Given the description of an element on the screen output the (x, y) to click on. 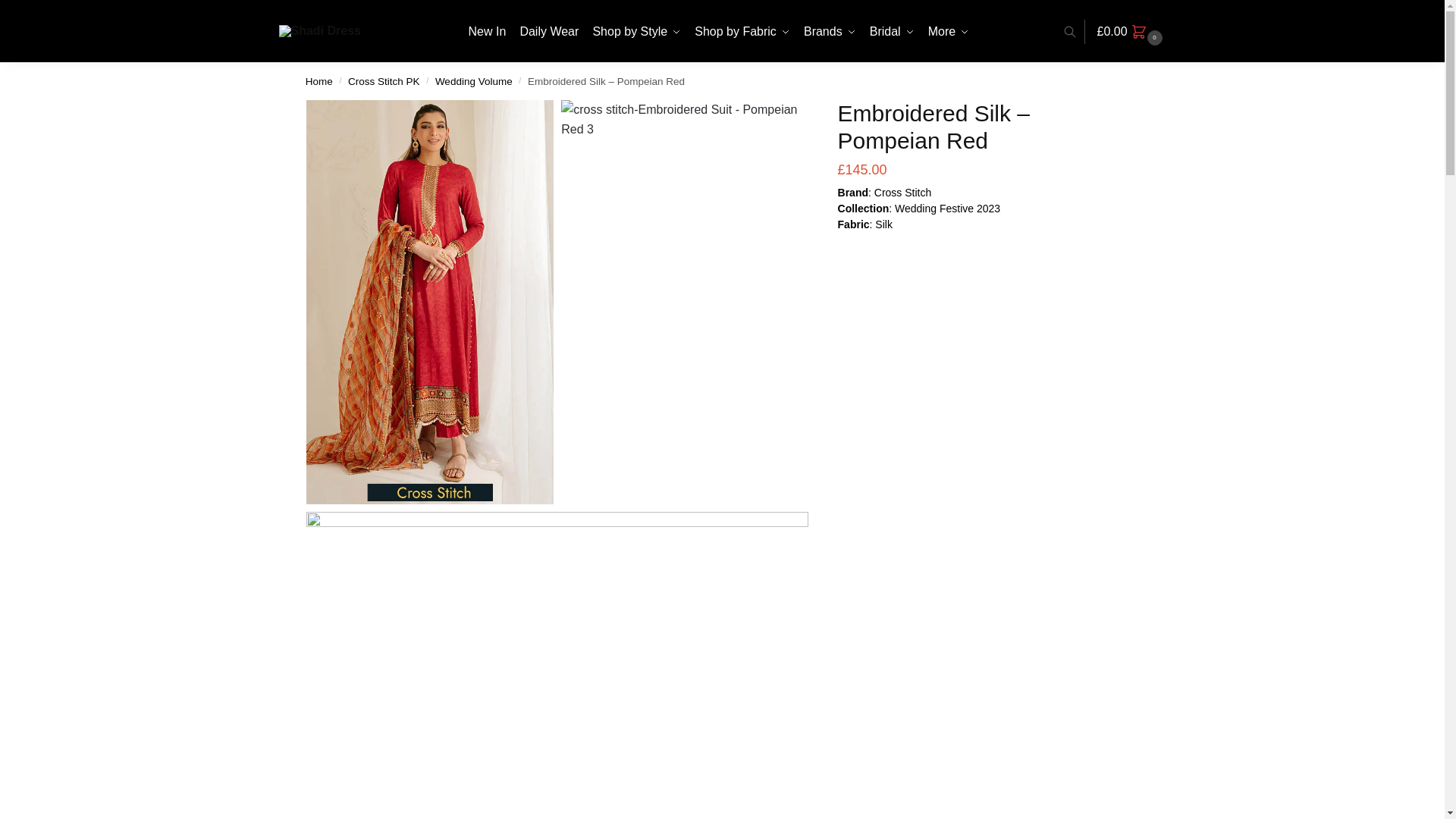
click to zoom-in (684, 301)
View your shopping cart (1131, 31)
Daily Wear (549, 31)
Brands (828, 31)
Shop by Fabric (741, 31)
New In (489, 31)
Shop by Style (636, 31)
click to zoom-in (429, 301)
